Given the description of an element on the screen output the (x, y) to click on. 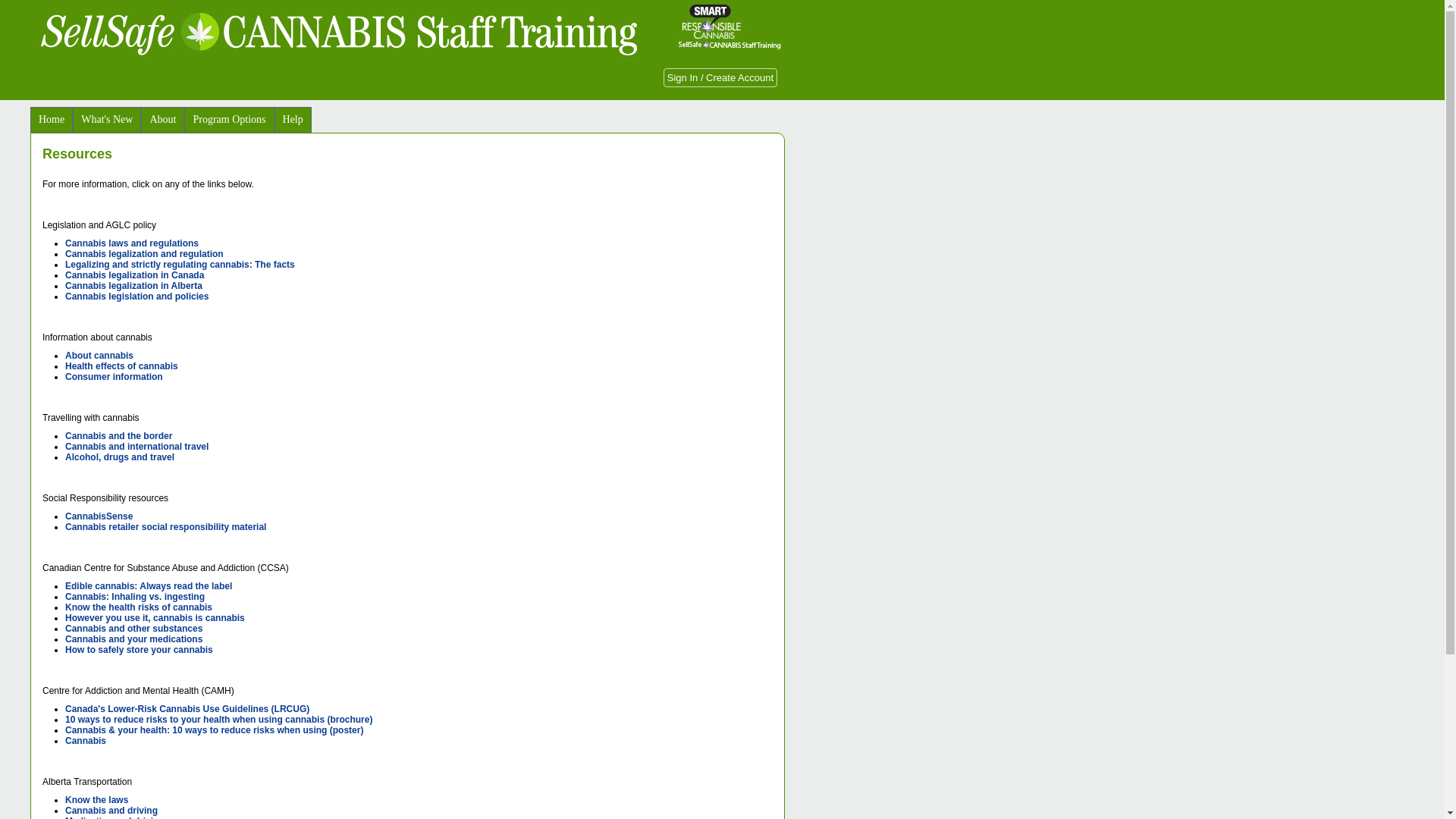
CannabisSense Element type: text (98, 516)
Cannabis and the border Element type: text (118, 435)
Alcohol, drugs and travel Element type: text (119, 456)
Cannabis legalization in Canada Element type: text (134, 274)
Cannabis legalization in Alberta Element type: text (133, 285)
Cannabis Element type: text (85, 740)
Edible cannabis: Always read the label Element type: text (148, 585)
Help Element type: text (292, 119)
Create Account Element type: text (739, 77)
Know the health risks of cannabis Element type: text (138, 607)
Canada's Lower-Risk Cannabis Use Guidelines (LRCUG) Element type: text (187, 708)
Cannabis and other substances Element type: text (133, 628)
What's New Element type: text (106, 119)
Cannabis: Inhaling vs. ingesting Element type: text (134, 596)
Cannabis and driving Element type: text (111, 810)
Cannabis legalization and regulation Element type: text (144, 253)
Cannabis and international travel Element type: text (136, 446)
Cannabis legislation and policies Element type: text (136, 296)
Sign In Element type: text (682, 77)
Health effects of cannabis Element type: text (121, 365)
About Element type: text (162, 119)
Legalizing and strictly regulating cannabis: The facts Element type: text (179, 264)
Cannabis retailer social responsibility material Element type: text (165, 526)
About cannabis Element type: text (99, 355)
Home Element type: text (51, 119)
Cannabis and your medications Element type: text (133, 638)
How to safely store your cannabis Element type: text (139, 649)
Program Options Element type: text (228, 119)
Consumer information Element type: text (114, 376)
Know the laws Element type: text (96, 799)
However you use it, cannabis is cannabis Element type: text (154, 617)
Cannabis laws and regulations Element type: text (131, 243)
